Given the description of an element on the screen output the (x, y) to click on. 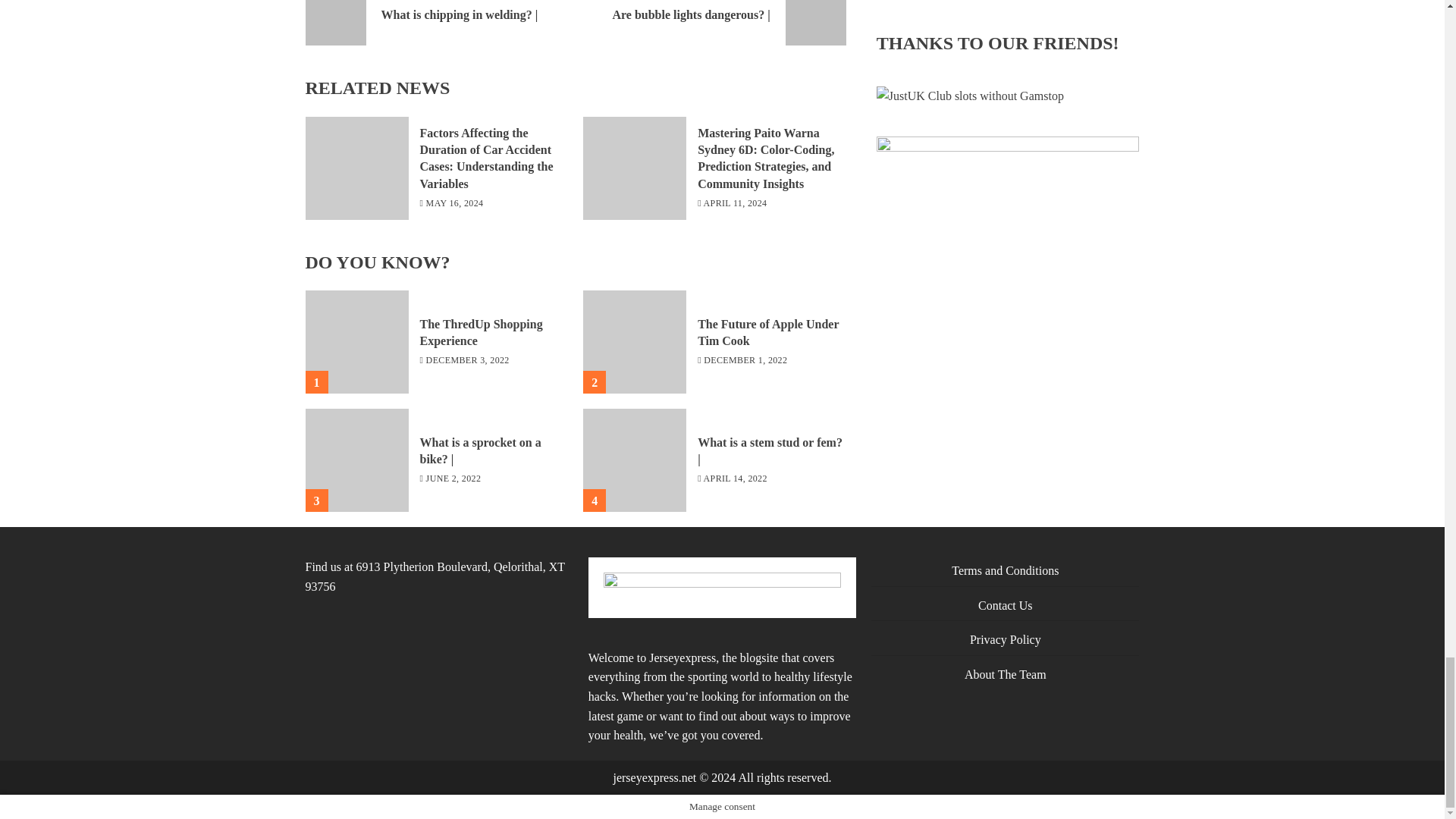
The Future of Apple Under Tim Cook (767, 332)
The ThredUp Shopping Experience (355, 341)
The ThredUp Shopping Experience (481, 332)
The Future of Apple Under Tim Cook (634, 341)
